Given the description of an element on the screen output the (x, y) to click on. 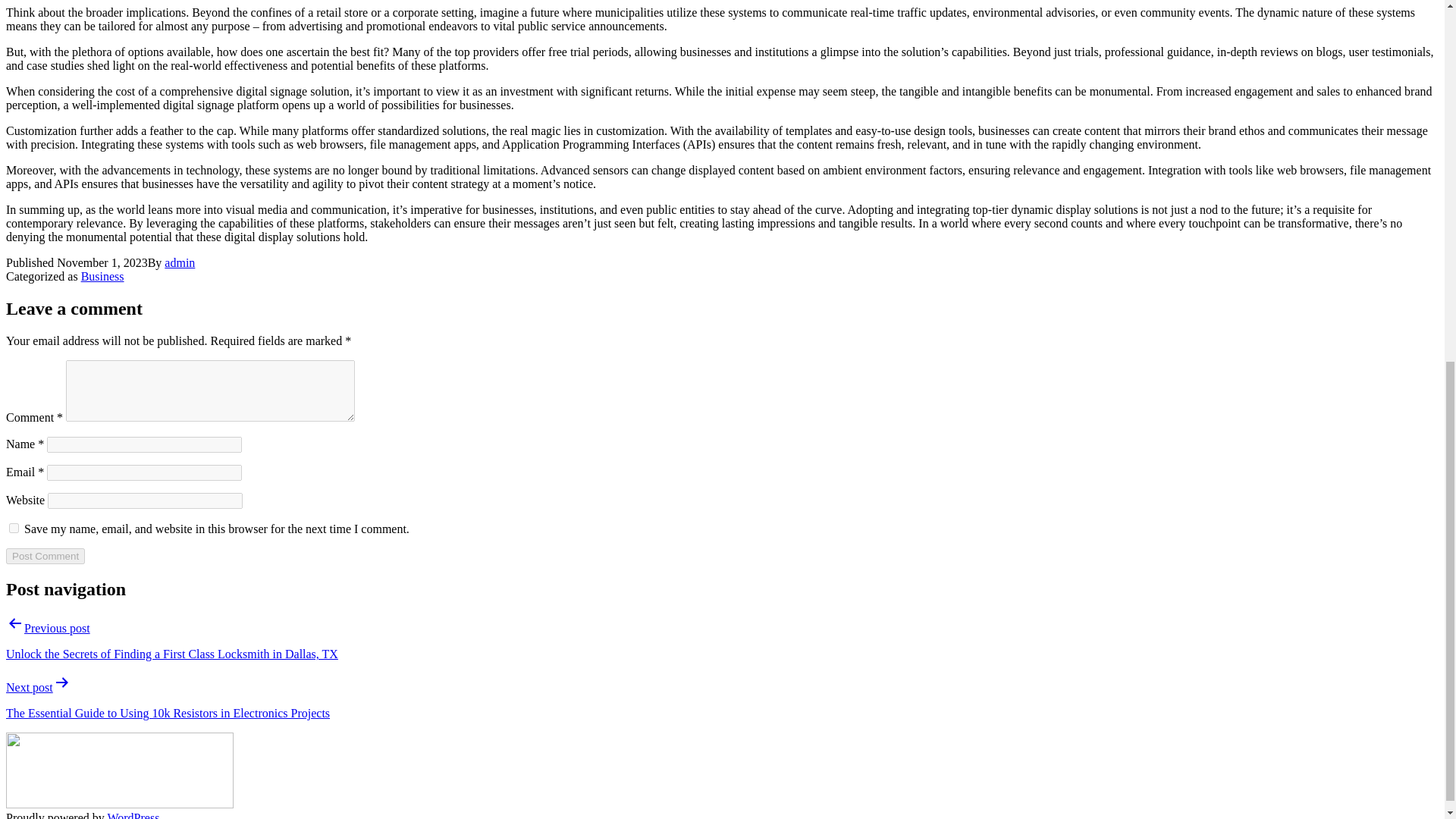
Post Comment (44, 555)
admin (179, 262)
yes (13, 528)
Post Comment (44, 555)
Business (102, 276)
